Given the description of an element on the screen output the (x, y) to click on. 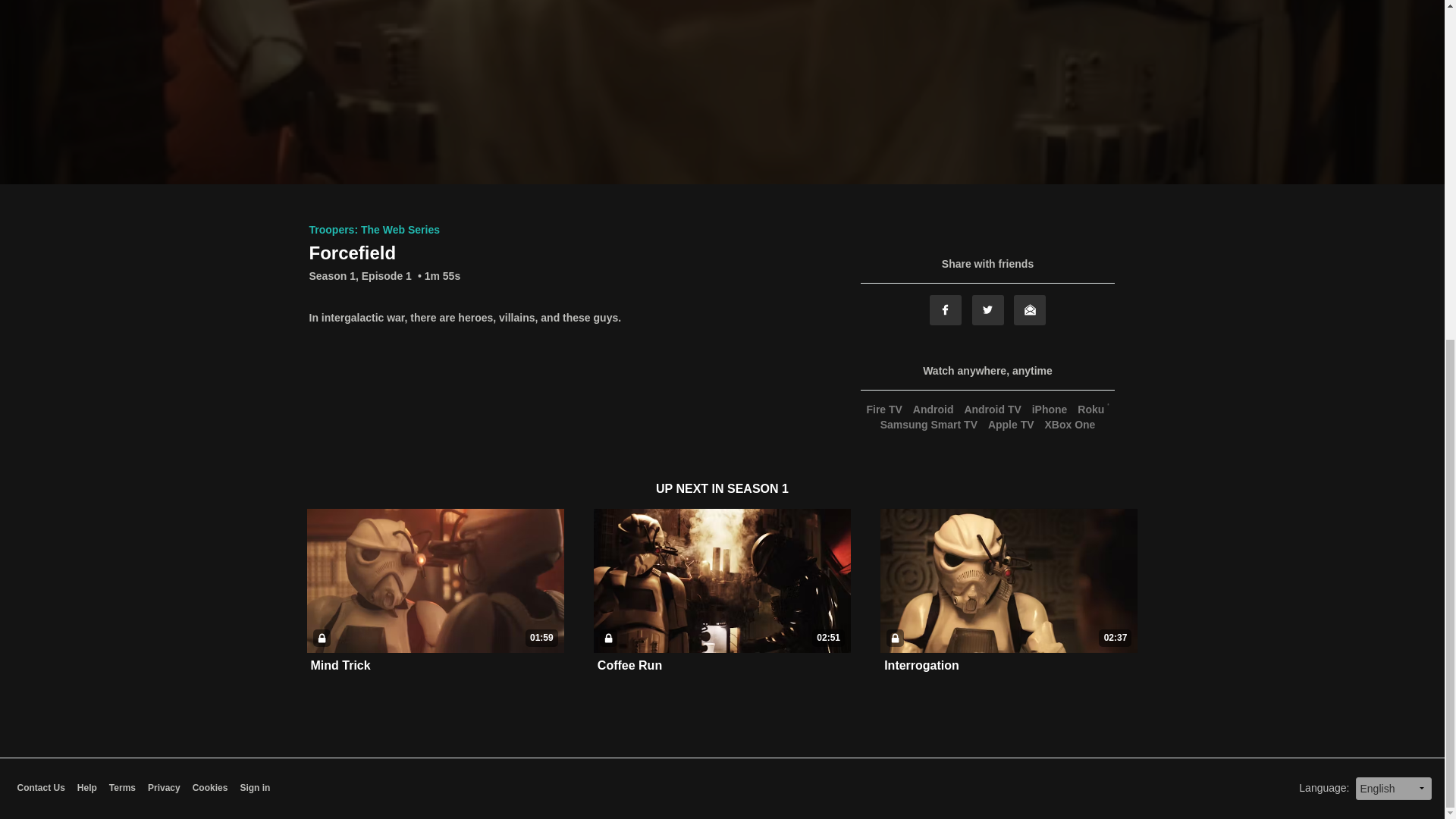
Season 1, Episode 1 (360, 275)
02:51 (722, 580)
Android TV (992, 409)
Email (1029, 309)
Mind Trick (341, 665)
Troopers: The Web Series (373, 229)
Interrogation (921, 665)
Terms (122, 788)
Android (933, 409)
01:59 (434, 580)
Coffee Run (629, 665)
Facebook (945, 309)
iPhone (1049, 409)
Help (87, 788)
Contact Us (40, 788)
